Given the description of an element on the screen output the (x, y) to click on. 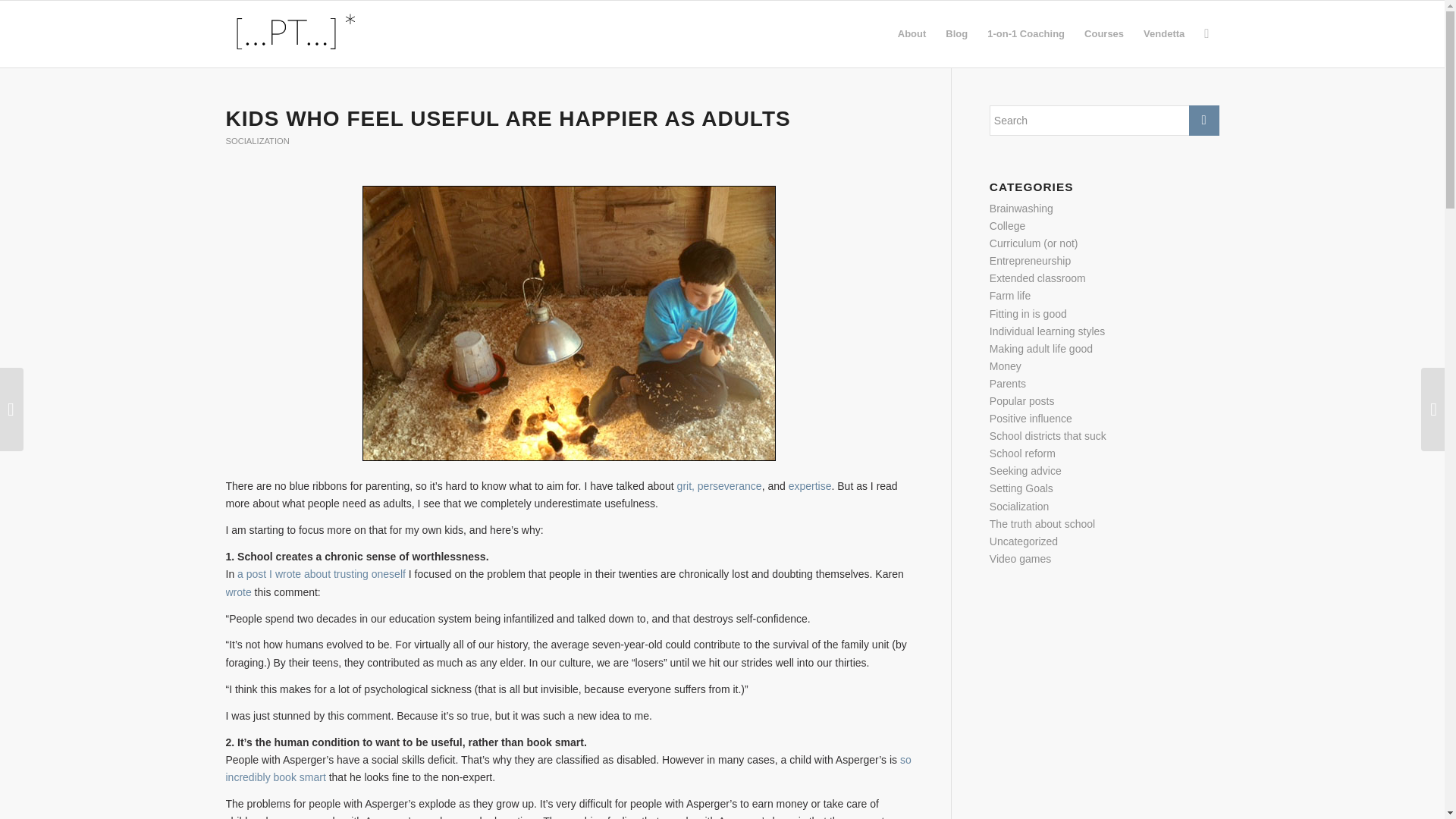
About (912, 33)
wrote (238, 592)
grit, perseverance (719, 485)
a post I wrote about trusting oneself (321, 573)
1-on-1 Coaching (1025, 33)
Vendetta (1163, 33)
College (1007, 225)
Brainwashing (1021, 208)
Fitting in is good (1028, 313)
Farm life (1010, 295)
Courses (1104, 33)
SOCIALIZATION (257, 140)
Blog (956, 33)
expertise (810, 485)
Extended classroom (1038, 277)
